Given the description of an element on the screen output the (x, y) to click on. 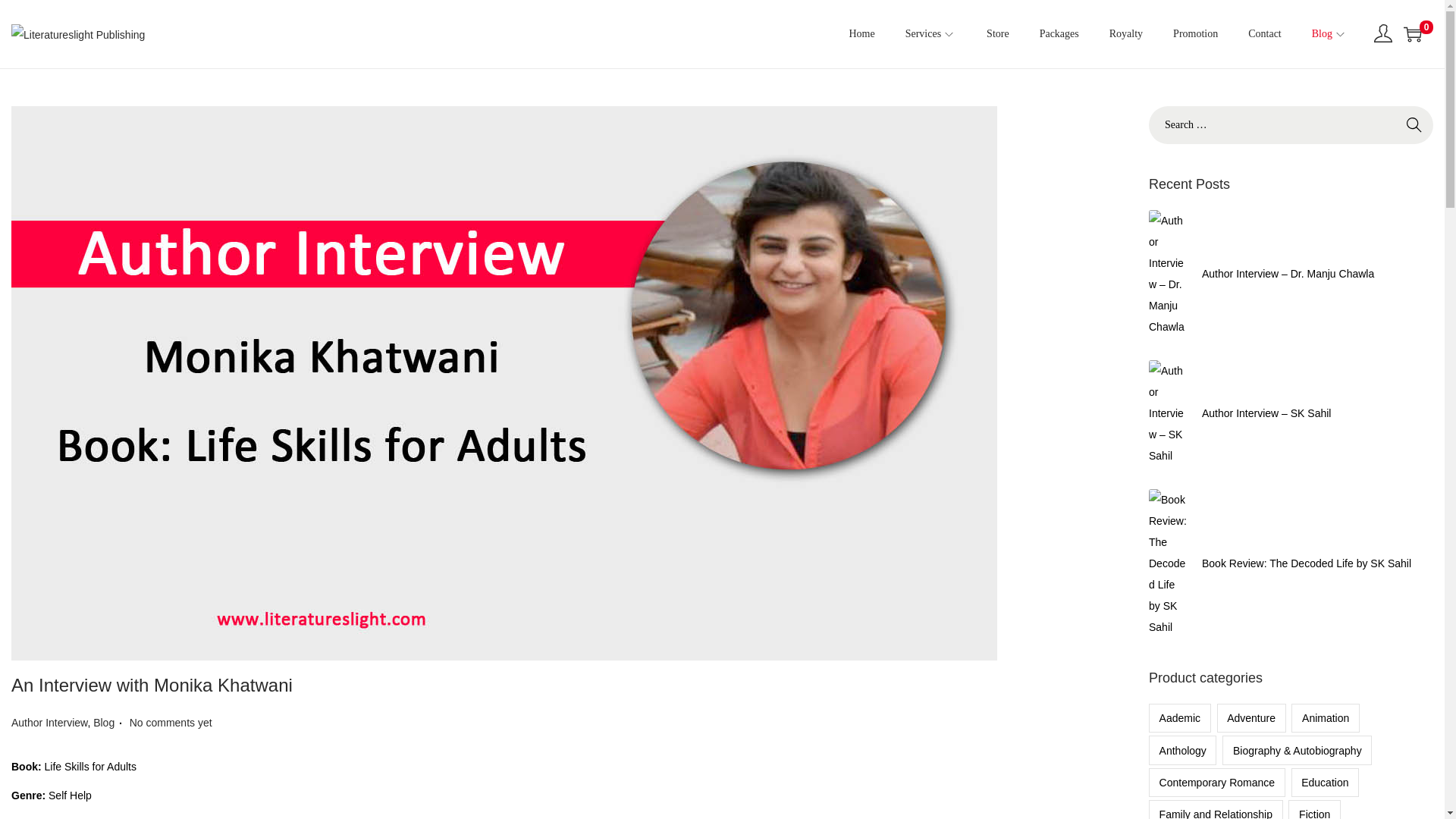
An Interview with Monika Khatwani (151, 684)
Search (1413, 125)
Search (1413, 125)
0 (1412, 34)
Author Interview (49, 722)
Blog (104, 722)
No comments yet (170, 722)
